Given the description of an element on the screen output the (x, y) to click on. 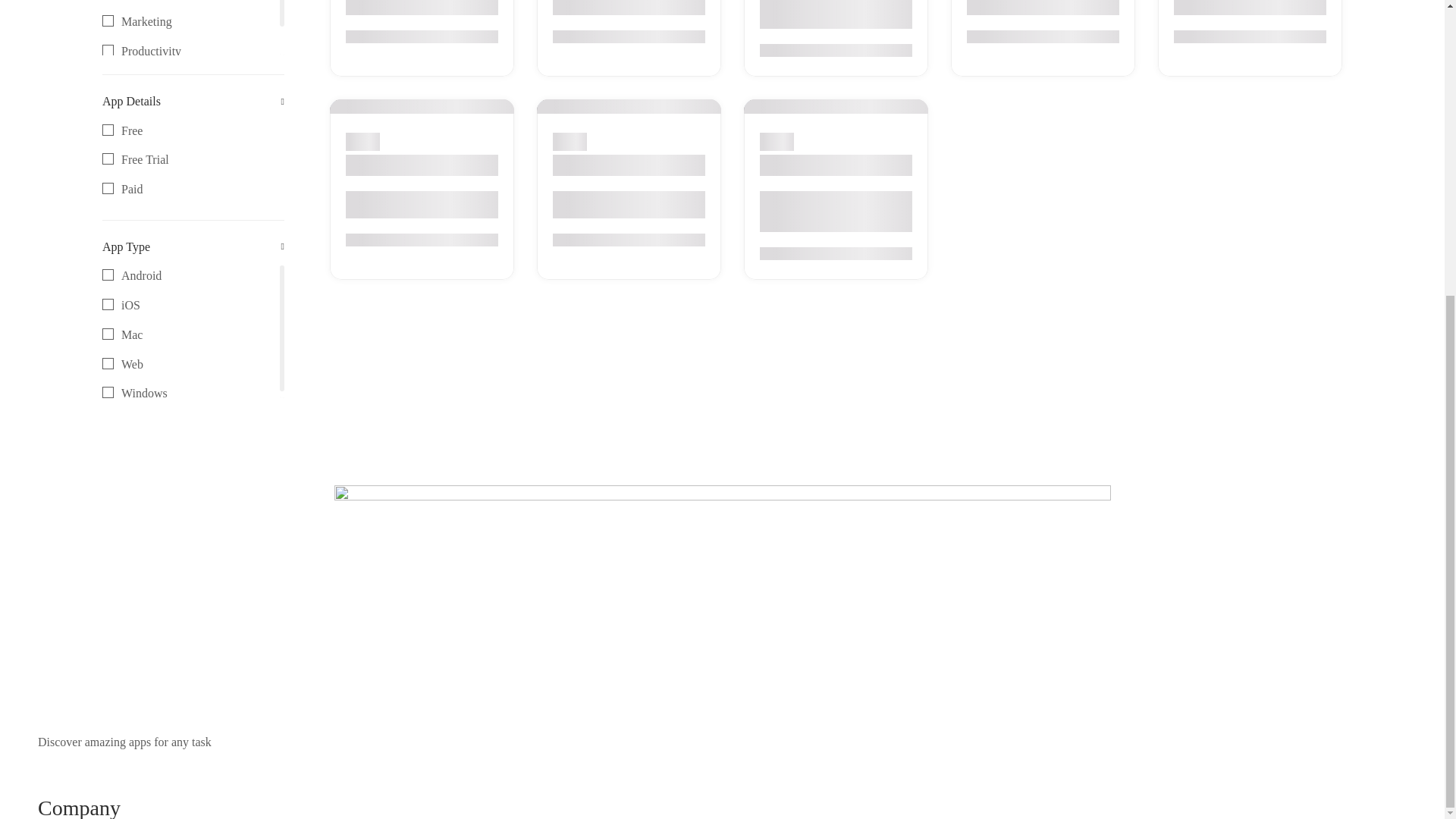
294 (107, 333)
311 (107, 129)
302 (107, 188)
300 (107, 392)
Bootstrap Studio (791, 106)
304 (107, 79)
Framer (192, 331)
301 (560, 106)
299 (107, 363)
298 (107, 304)
303 (107, 50)
310 (107, 158)
295 (107, 20)
